Given the description of an element on the screen output the (x, y) to click on. 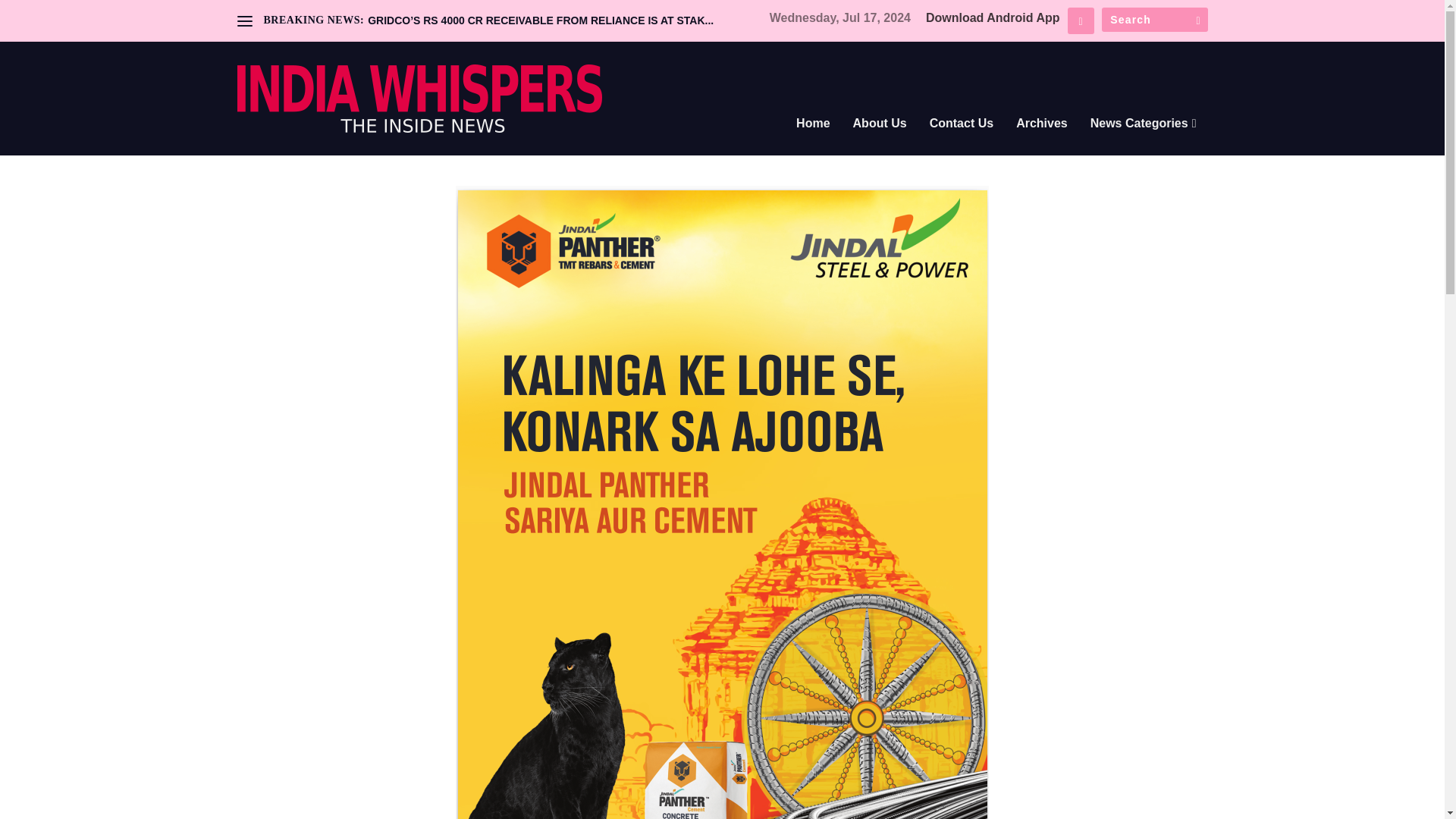
Download Android App (992, 17)
News Categories (1143, 143)
Contact Us (961, 143)
Search for: (1153, 19)
Archives (1041, 143)
About Us (880, 143)
Home (812, 143)
